Given the description of an element on the screen output the (x, y) to click on. 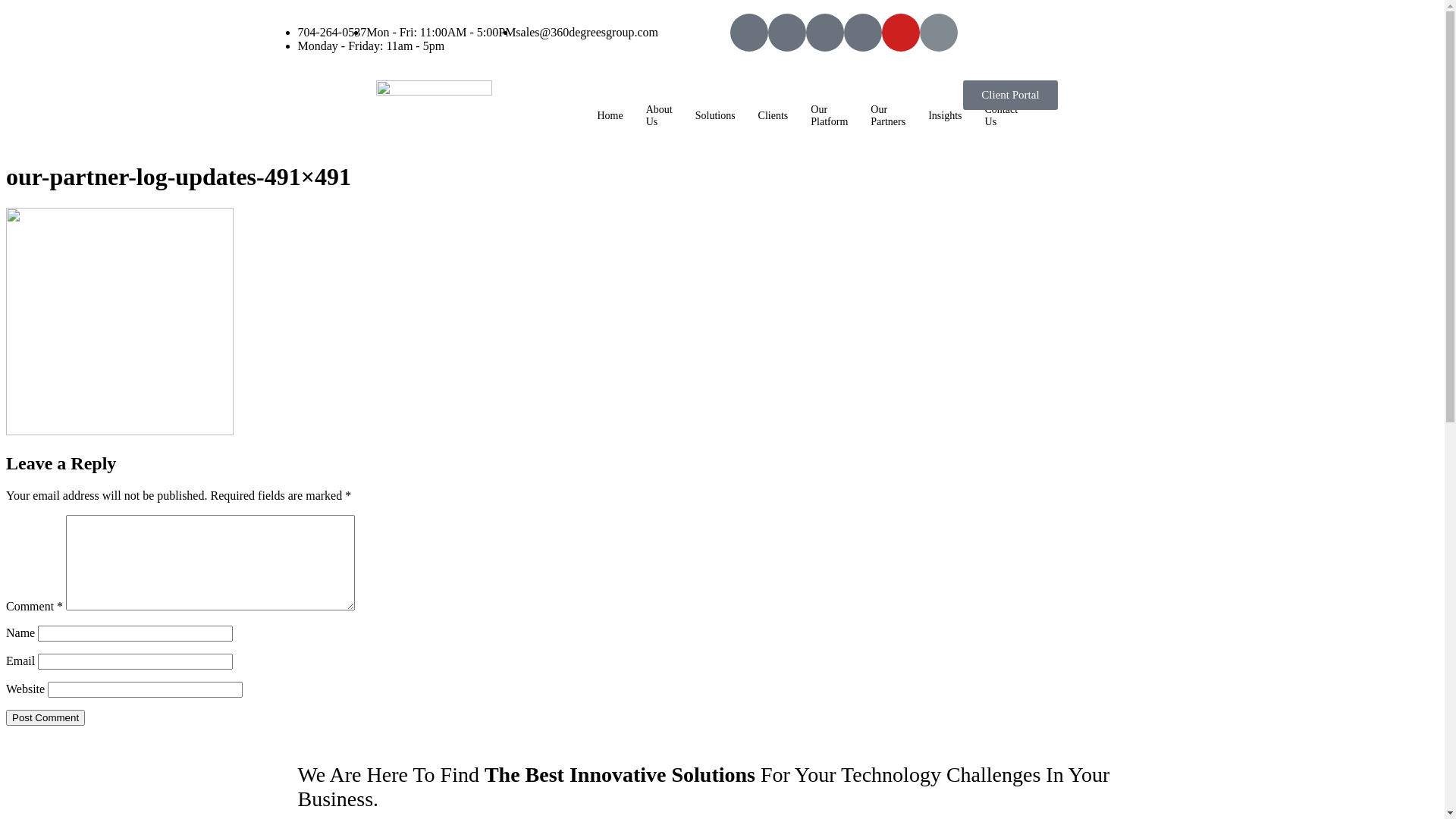
Our Platform Element type: text (829, 115)
Clients Element type: text (773, 115)
Client Portal Element type: text (1010, 94)
Contact Us Element type: text (1001, 115)
Home Element type: text (609, 115)
About Us Element type: text (659, 115)
Our Partners Element type: text (887, 115)
Solutions Element type: text (715, 115)
Post Comment Element type: text (45, 717)
Insights Element type: text (944, 115)
